Given the description of an element on the screen output the (x, y) to click on. 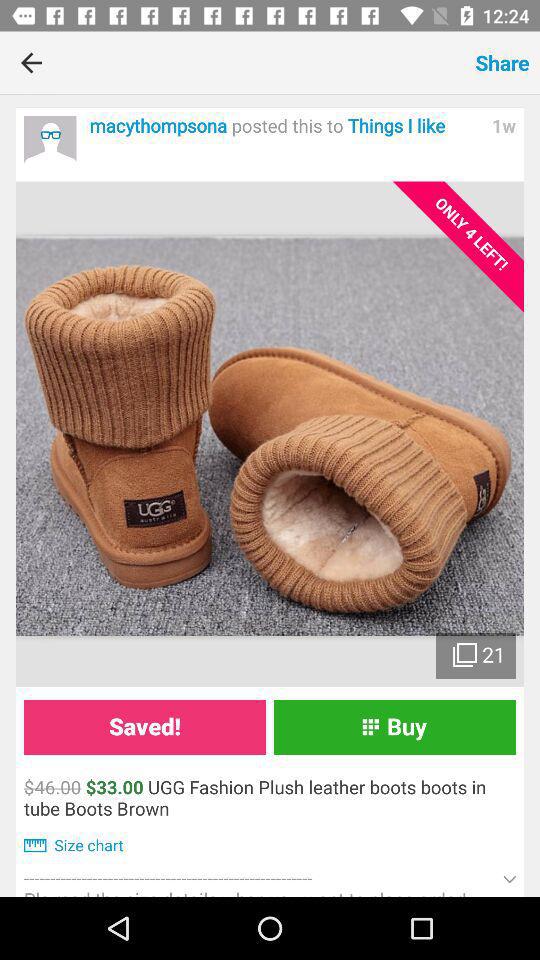
turn on the item next to share item (263, 62)
